Given the description of an element on the screen output the (x, y) to click on. 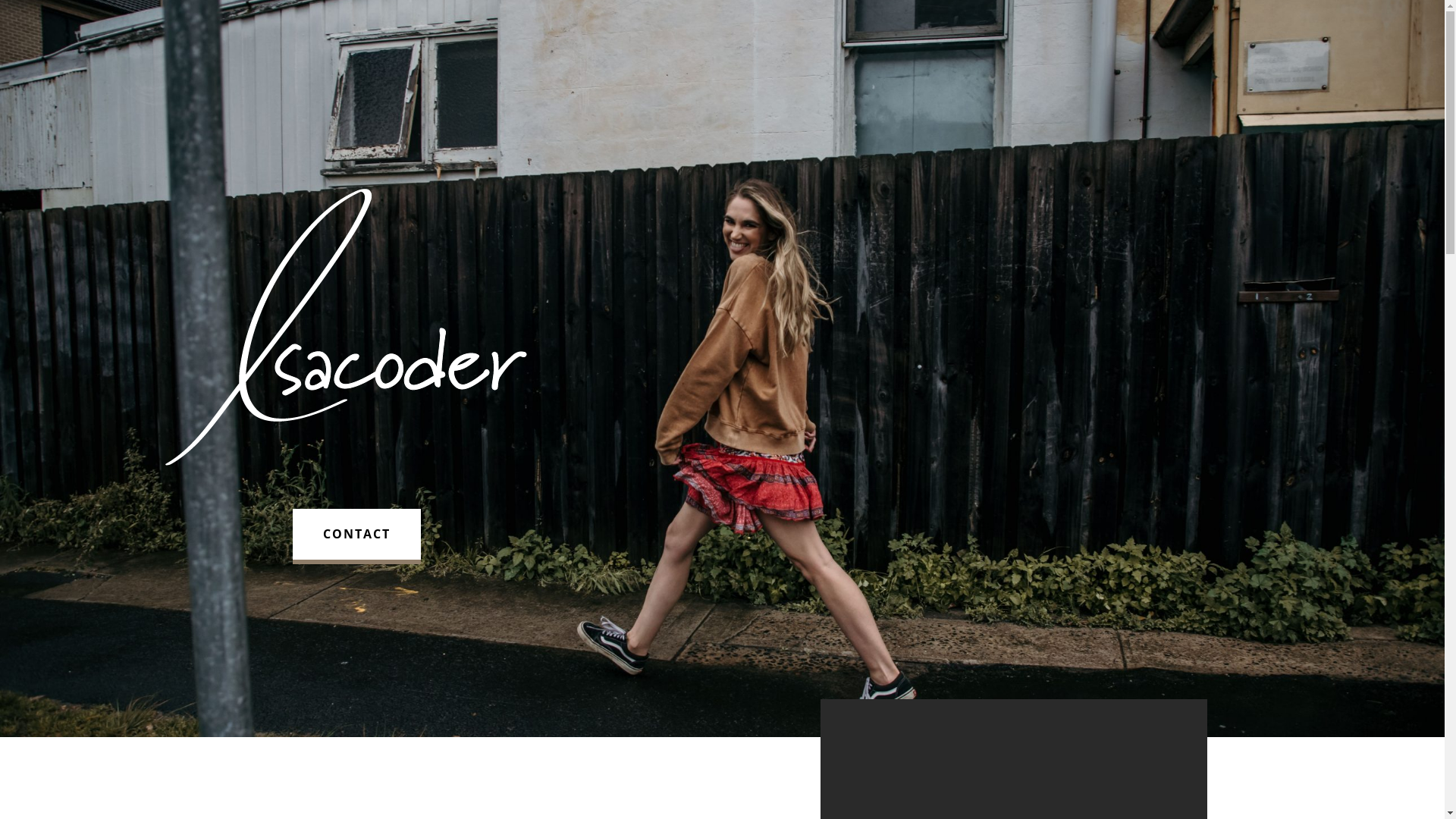
CONTACT Element type: text (356, 533)
Isacoder Element type: hover (356, 326)
